Given the description of an element on the screen output the (x, y) to click on. 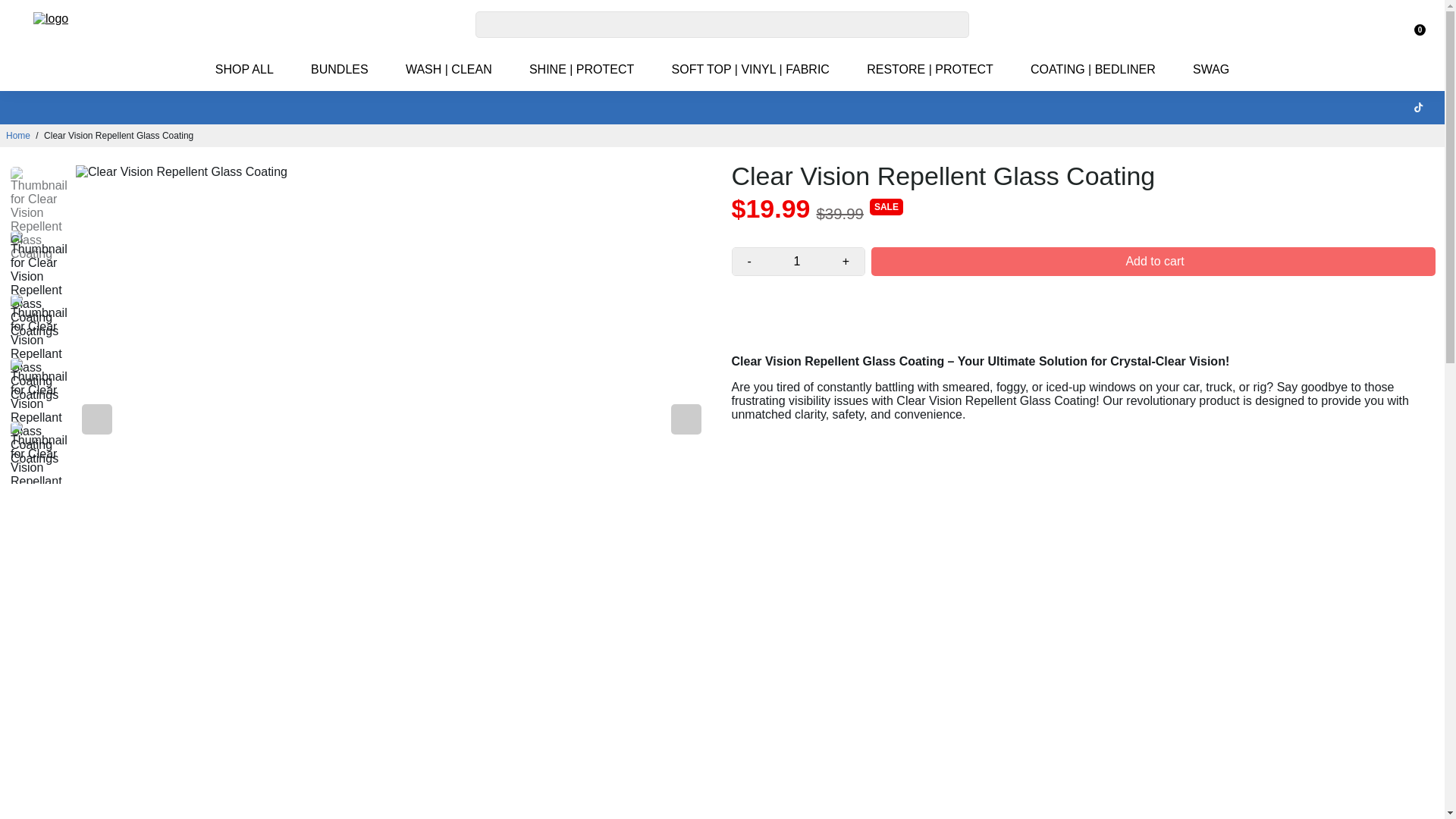
1 (797, 261)
SWAG (1210, 69)
SHOP ALL (244, 69)
Home (17, 135)
- (749, 261)
Home (17, 135)
BUNDLES (339, 69)
